Given the description of an element on the screen output the (x, y) to click on. 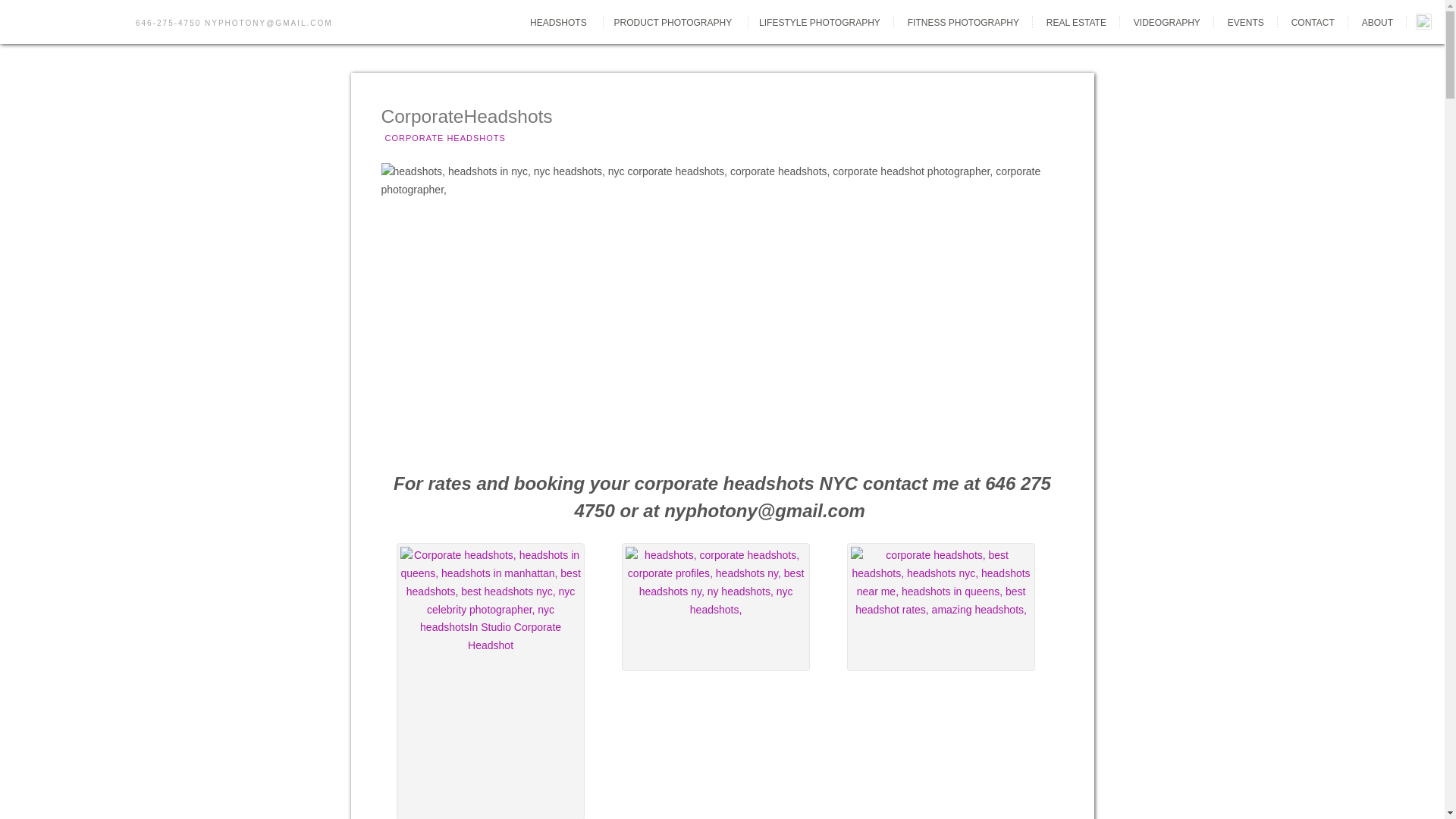
FITNESS PHOTOGRAPHY (962, 22)
VIDEOGRAPHY (1166, 22)
PRODUCT PHOTOGRAPHY (673, 22)
REAL ESTATE (1075, 22)
EVENTS (1246, 22)
Corporate Headshot for Aufgang Architects (715, 606)
HEADSHOTS (557, 22)
Corporate Headshot in studio (941, 606)
LIFESTYLE PHOTOGRAPHY (819, 22)
